Given the description of an element on the screen output the (x, y) to click on. 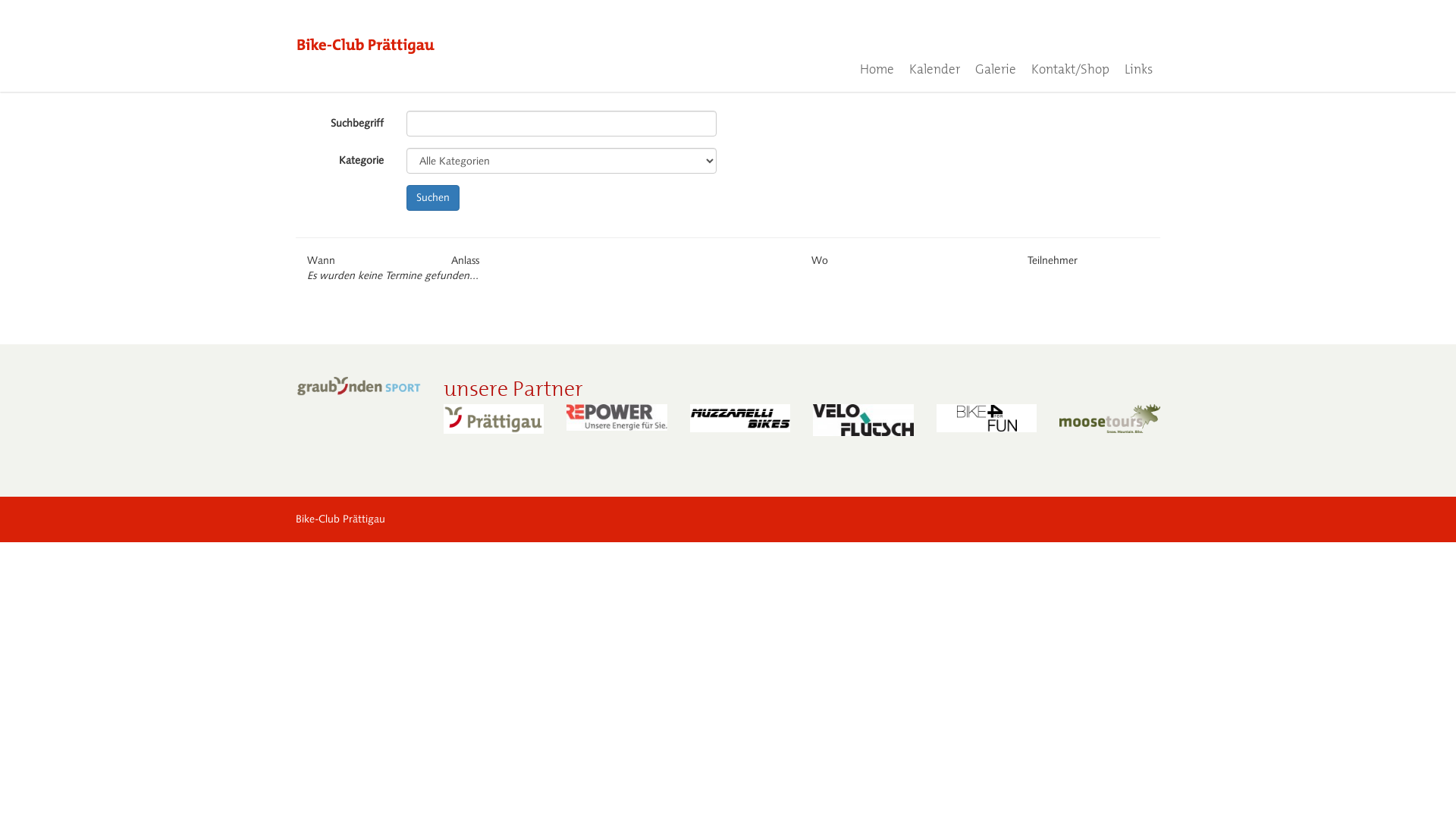
Kontakt/Shop Element type: text (1070, 68)
Suchen Element type: text (432, 197)
Links Element type: text (1138, 68)
Home Element type: text (876, 68)
Galerie Element type: text (995, 68)
Kalender Element type: text (934, 68)
